Given the description of an element on the screen output the (x, y) to click on. 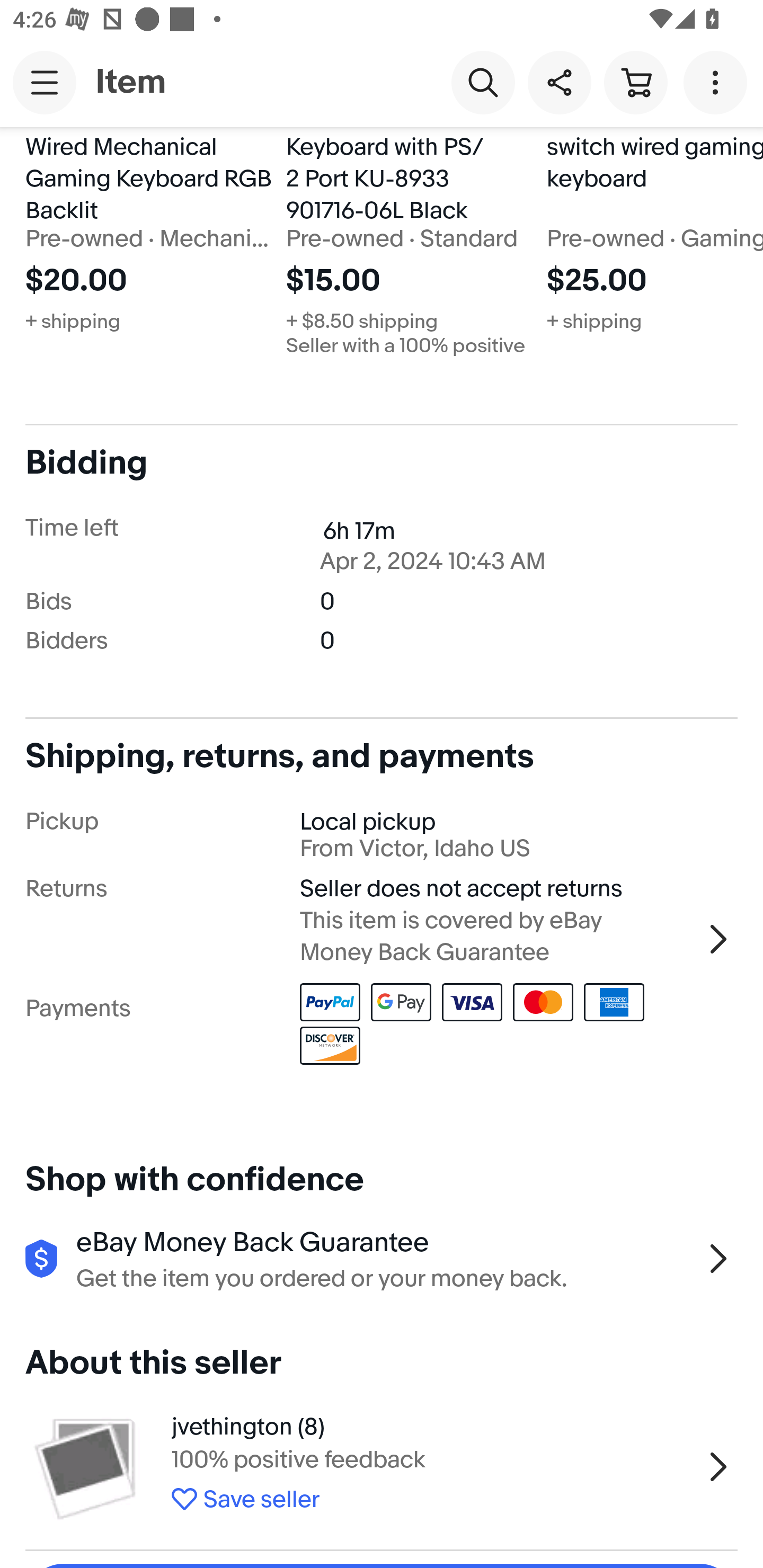
Main navigation, open (44, 82)
Search (482, 81)
Share this item (559, 81)
Cart button shopping cart (635, 81)
More options (718, 81)
Save seller (431, 1495)
